Given the description of an element on the screen output the (x, y) to click on. 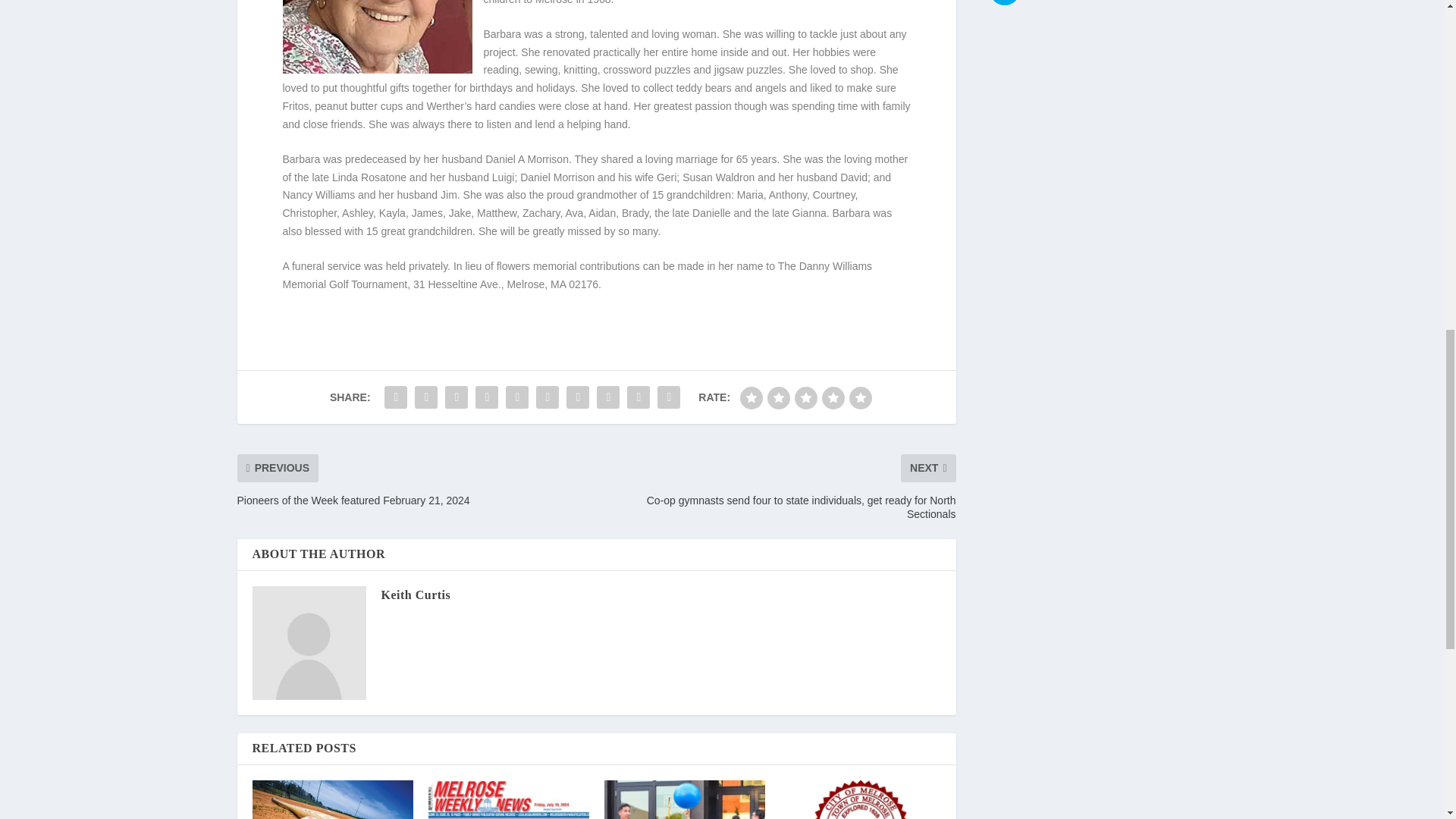
Share "Barbara Morrison" via Twitter (425, 397)
Share "Barbara Morrison" via Pinterest (517, 397)
Share "Barbara Morrison" via Facebook (395, 397)
Share "Barbara Morrison" via Tumblr (486, 397)
Keith Curtis (414, 594)
